Given the description of an element on the screen output the (x, y) to click on. 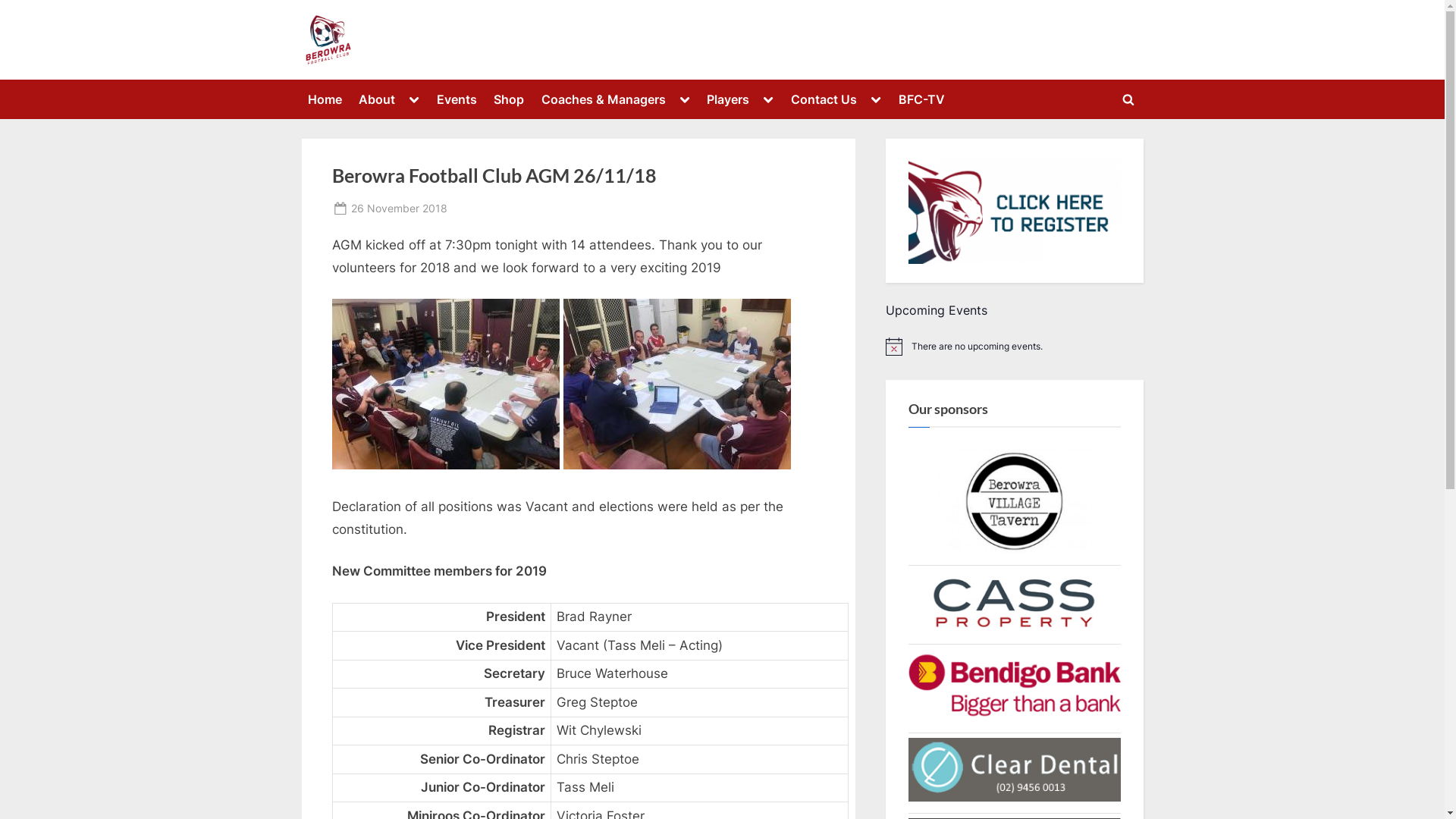
Berowra Football Club Element type: text (428, 50)
Toggle sub-menu Element type: text (413, 98)
Contact Us Element type: text (823, 98)
Toggle sub-menu Element type: text (684, 98)
By
Wit Chylewski Element type: text (504, 207)
Posted on
26 November 2018 Element type: text (399, 207)
BFC-TV Element type: text (920, 98)
Coaches & Managers Element type: text (603, 98)
About Element type: text (376, 98)
Shop Element type: text (508, 98)
Toggle sub-menu Element type: text (875, 98)
Events Element type: text (456, 98)
Home Element type: text (324, 98)
Toggle search form Element type: text (1128, 99)
Toggle sub-menu Element type: text (767, 98)
Players Element type: text (727, 98)
